Given the description of an element on the screen output the (x, y) to click on. 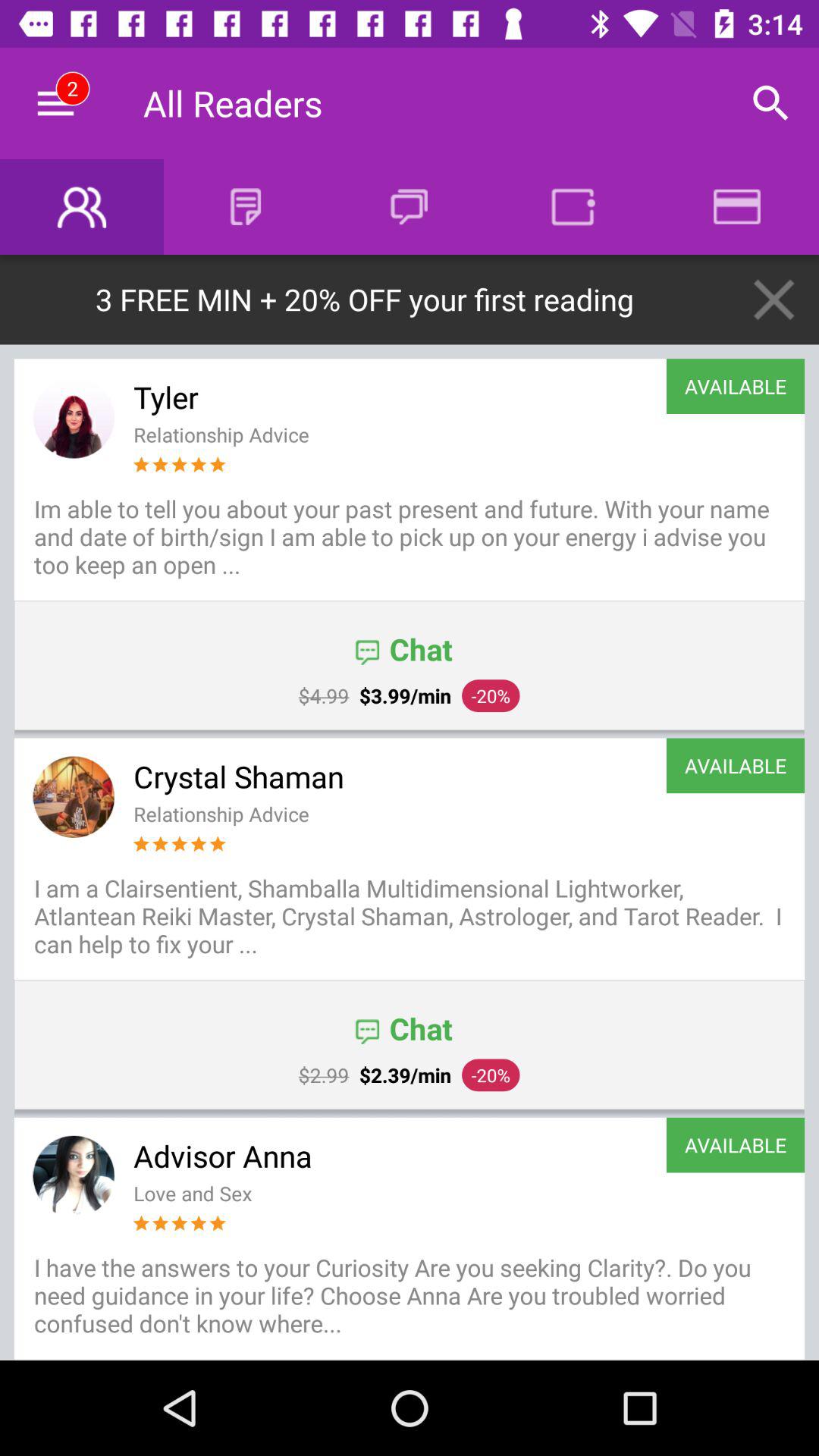
choose icon next to 3 free min icon (774, 299)
